Given the description of an element on the screen output the (x, y) to click on. 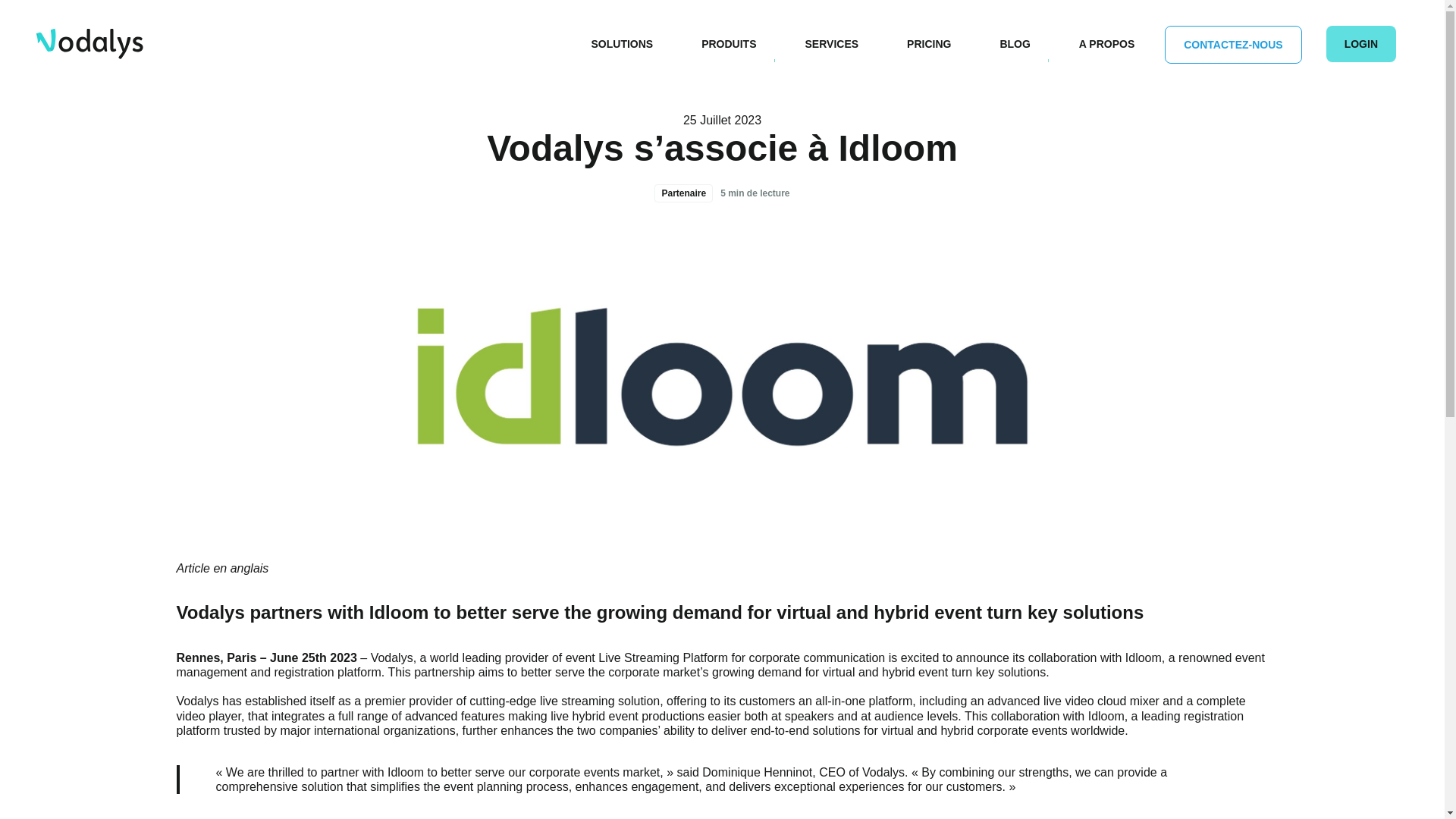
LOGIN (1361, 44)
CONTACTEZ-NOUS (1232, 44)
SOLUTIONS (622, 44)
PRODUITS (728, 44)
A PROPOS (1107, 44)
PRICING (928, 44)
BLOG (1014, 44)
SERVICES (832, 44)
